Given the description of an element on the screen output the (x, y) to click on. 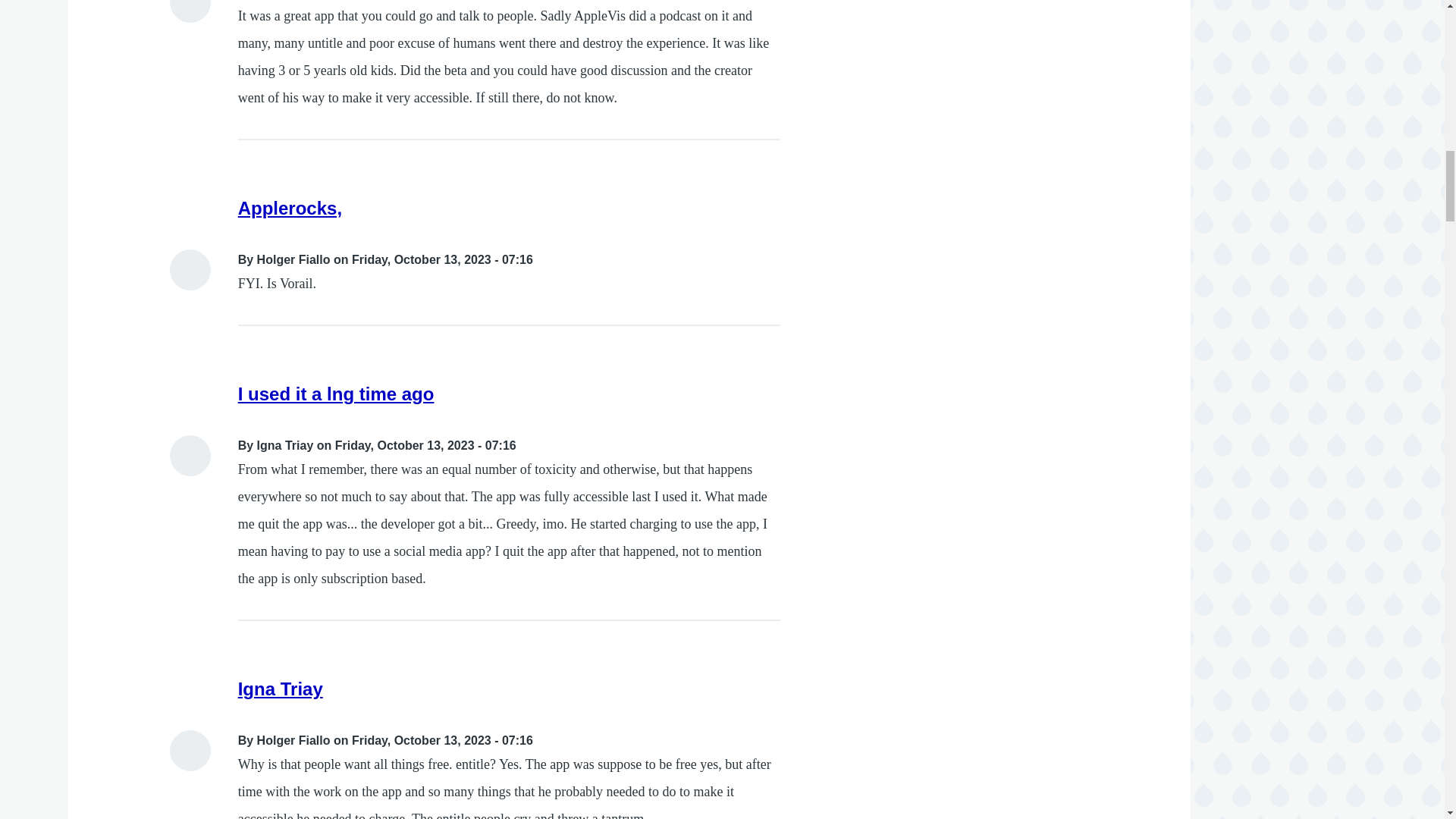
Applerocks, (290, 208)
I used it a lng time ago (335, 394)
Igna Triay (280, 688)
